Given the description of an element on the screen output the (x, y) to click on. 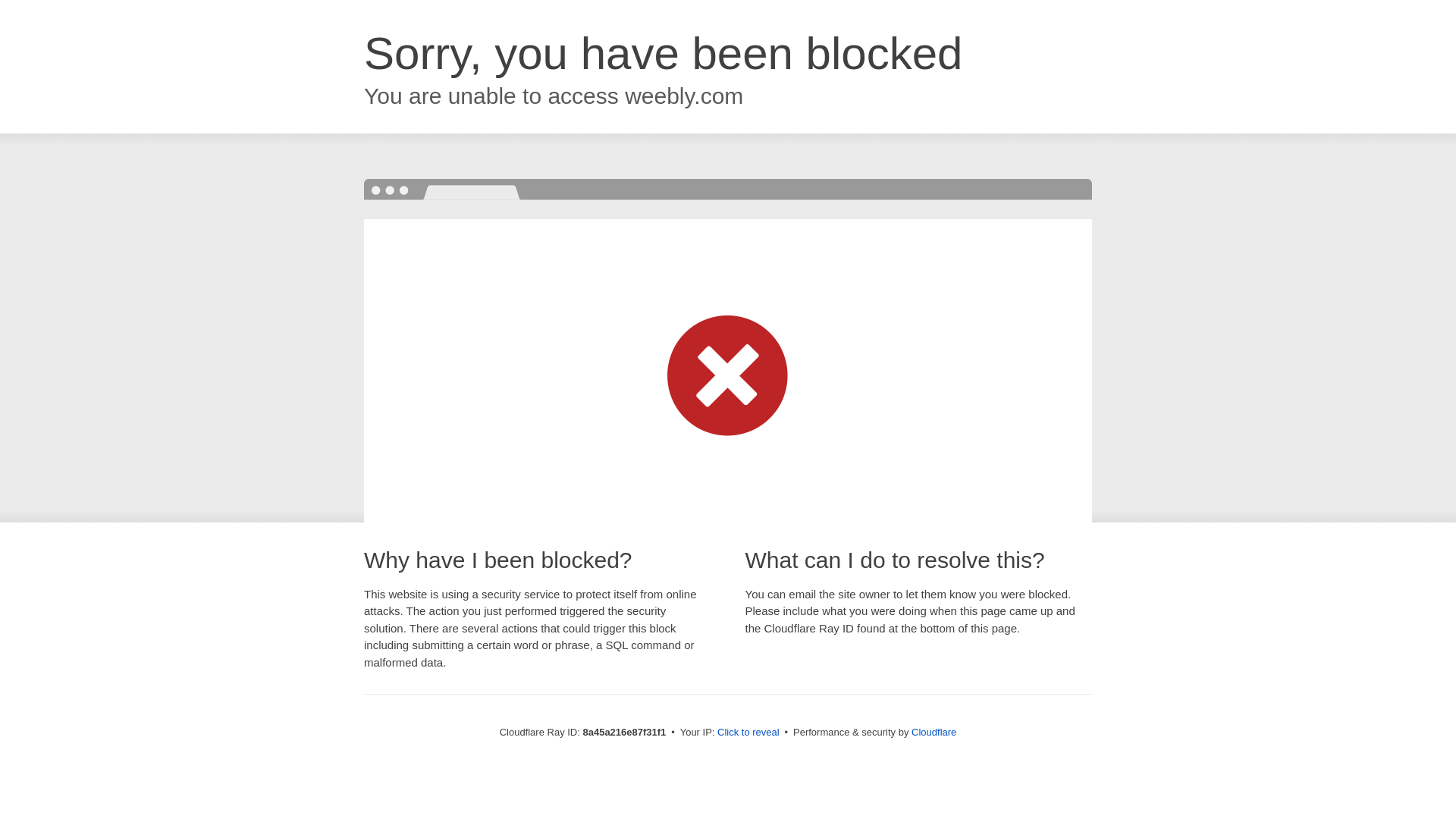
Cloudflare (933, 731)
Click to reveal (747, 732)
